Given the description of an element on the screen output the (x, y) to click on. 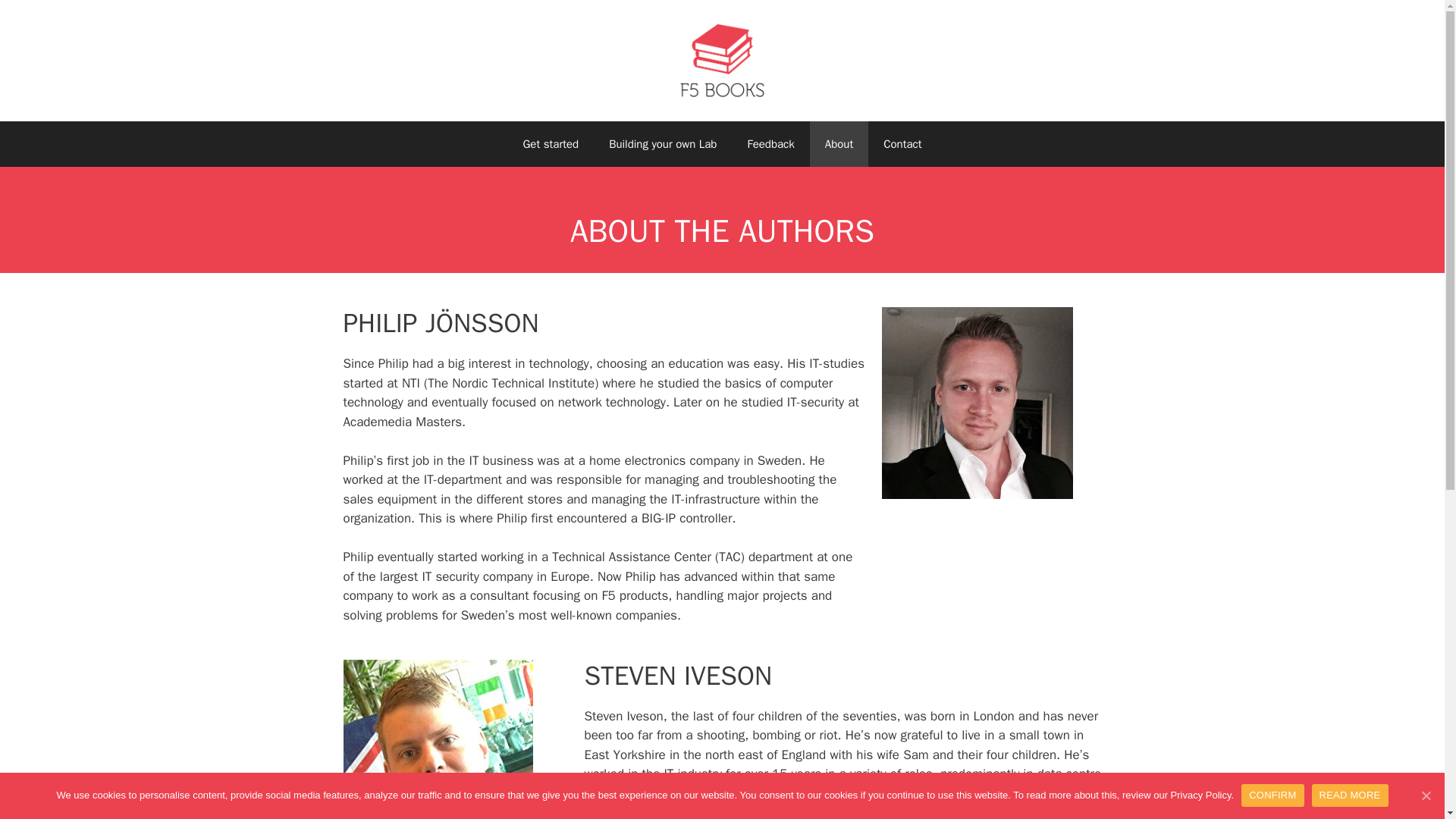
READ MORE (1350, 794)
Building your own Lab (663, 144)
Contact (901, 144)
F5 Books (721, 60)
Get started (550, 144)
About (838, 144)
F5 Books (721, 59)
CONFIRM (1272, 794)
Feedback (770, 144)
